Given the description of an element on the screen output the (x, y) to click on. 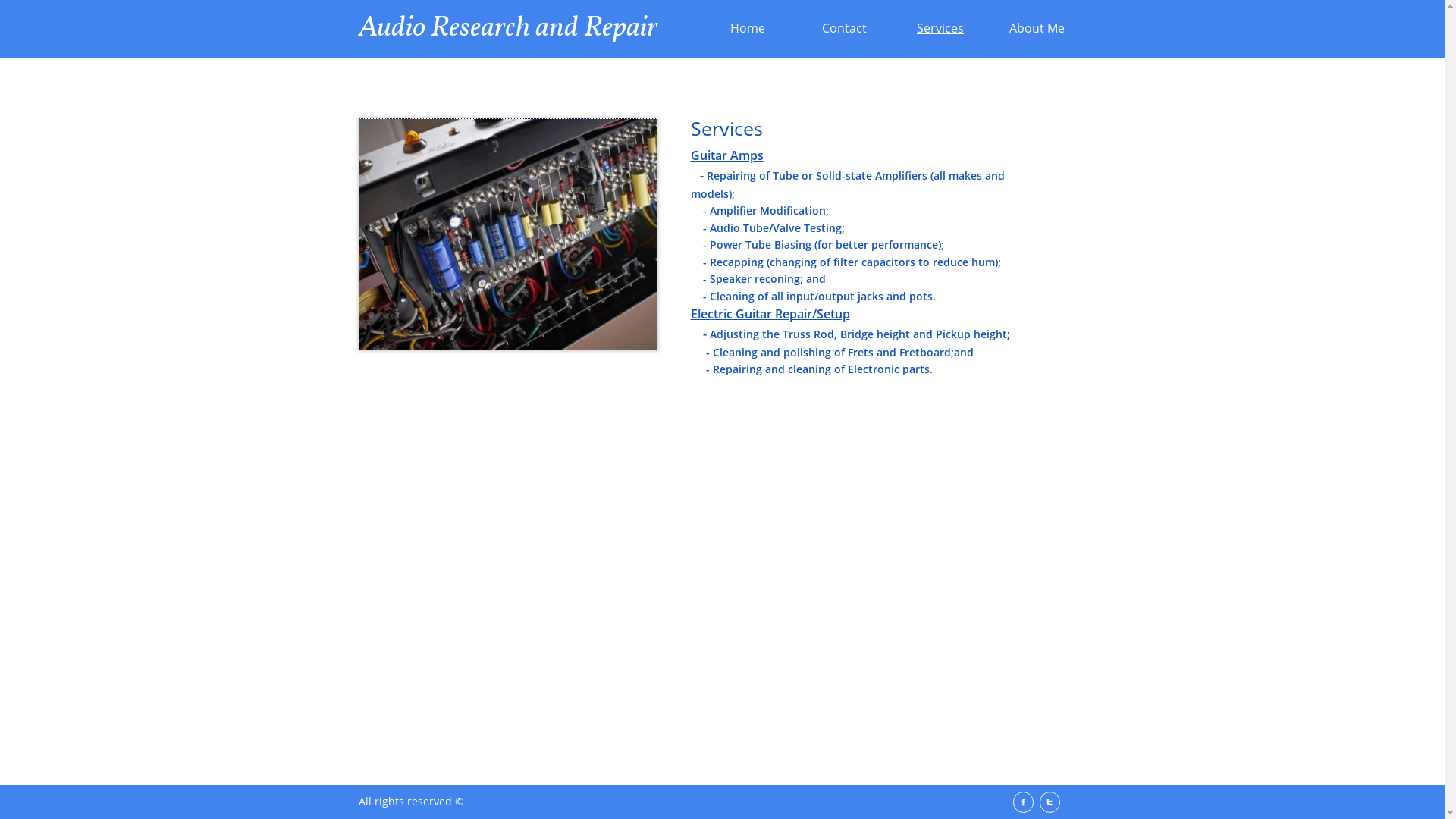
Contact Element type: text (844, 28)
About Me Element type: text (1036, 28)
Services Element type: text (939, 28)
Home Element type: text (747, 28)
